Given the description of an element on the screen output the (x, y) to click on. 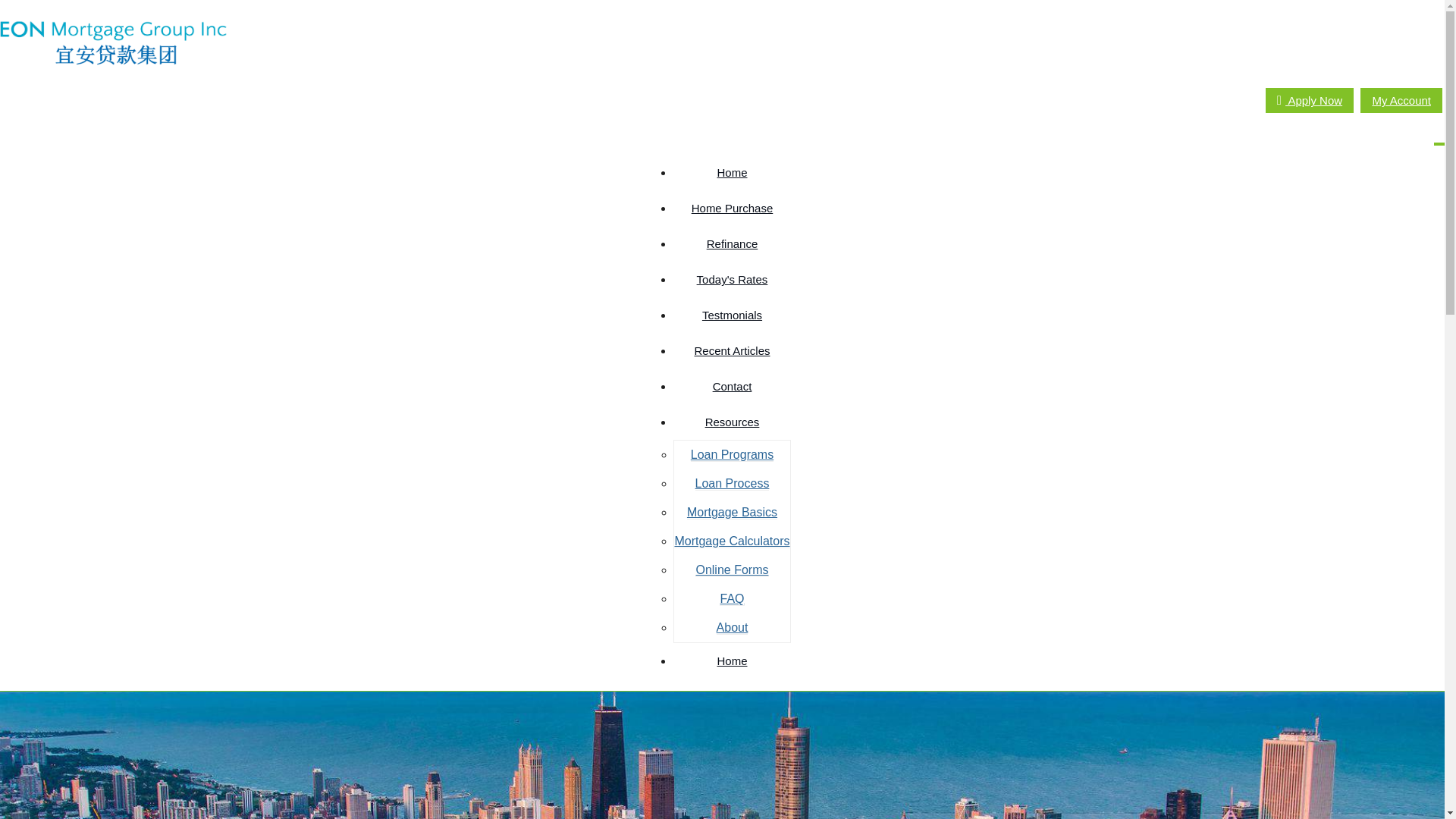
Loan Process (732, 483)
Testmonials (731, 314)
About (732, 627)
Refinance (731, 243)
Home (731, 172)
Mortgage Calculators (731, 540)
Contact (731, 386)
Recent Articles (731, 350)
Toggle navigation (1439, 143)
Today's Rates (731, 279)
Mortgage Basics (732, 512)
Resources (731, 421)
Home (731, 660)
Apply Now (1309, 100)
Online Forms (731, 570)
